Given the description of an element on the screen output the (x, y) to click on. 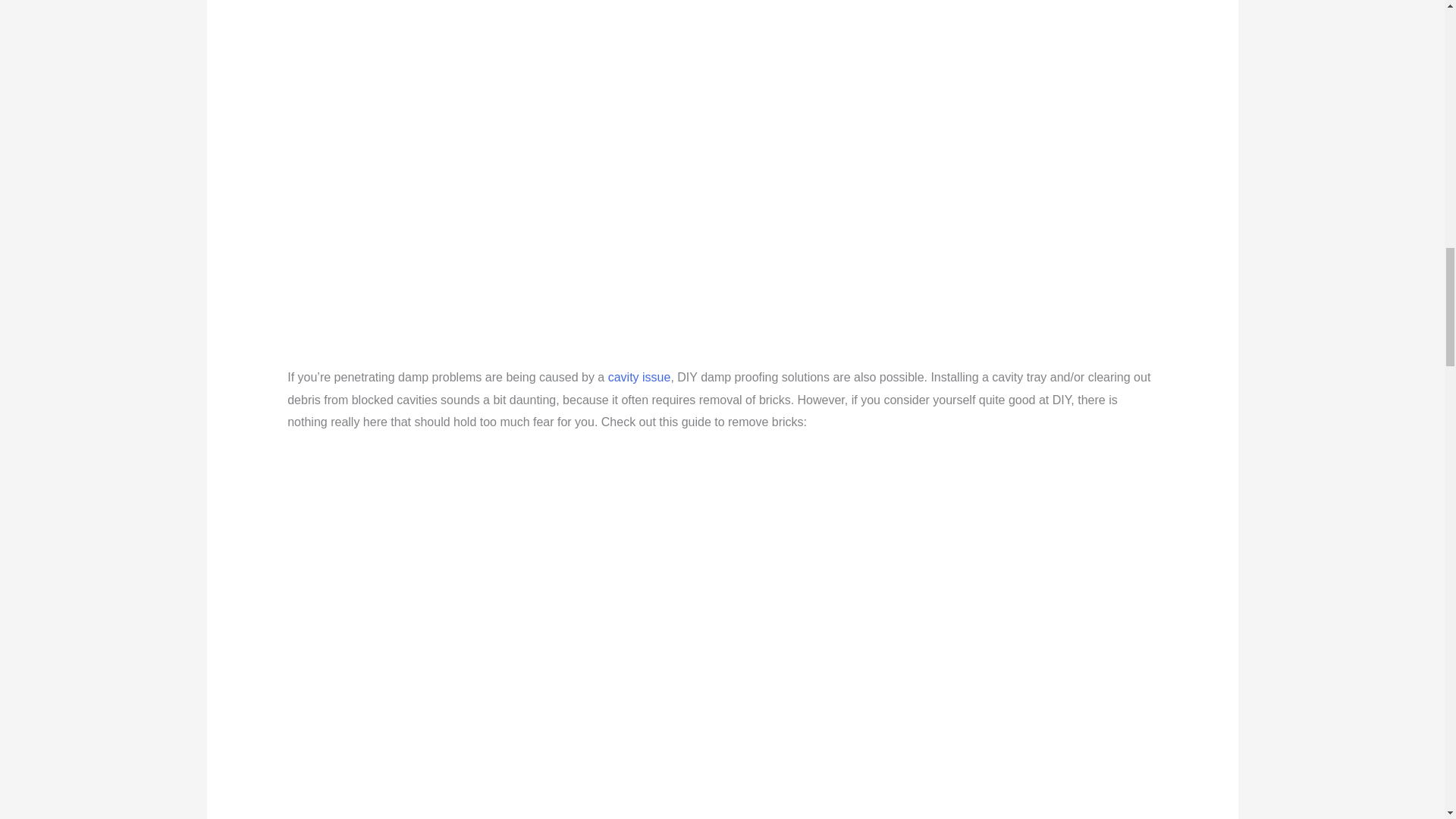
cavity issue (639, 377)
